Given the description of an element on the screen output the (x, y) to click on. 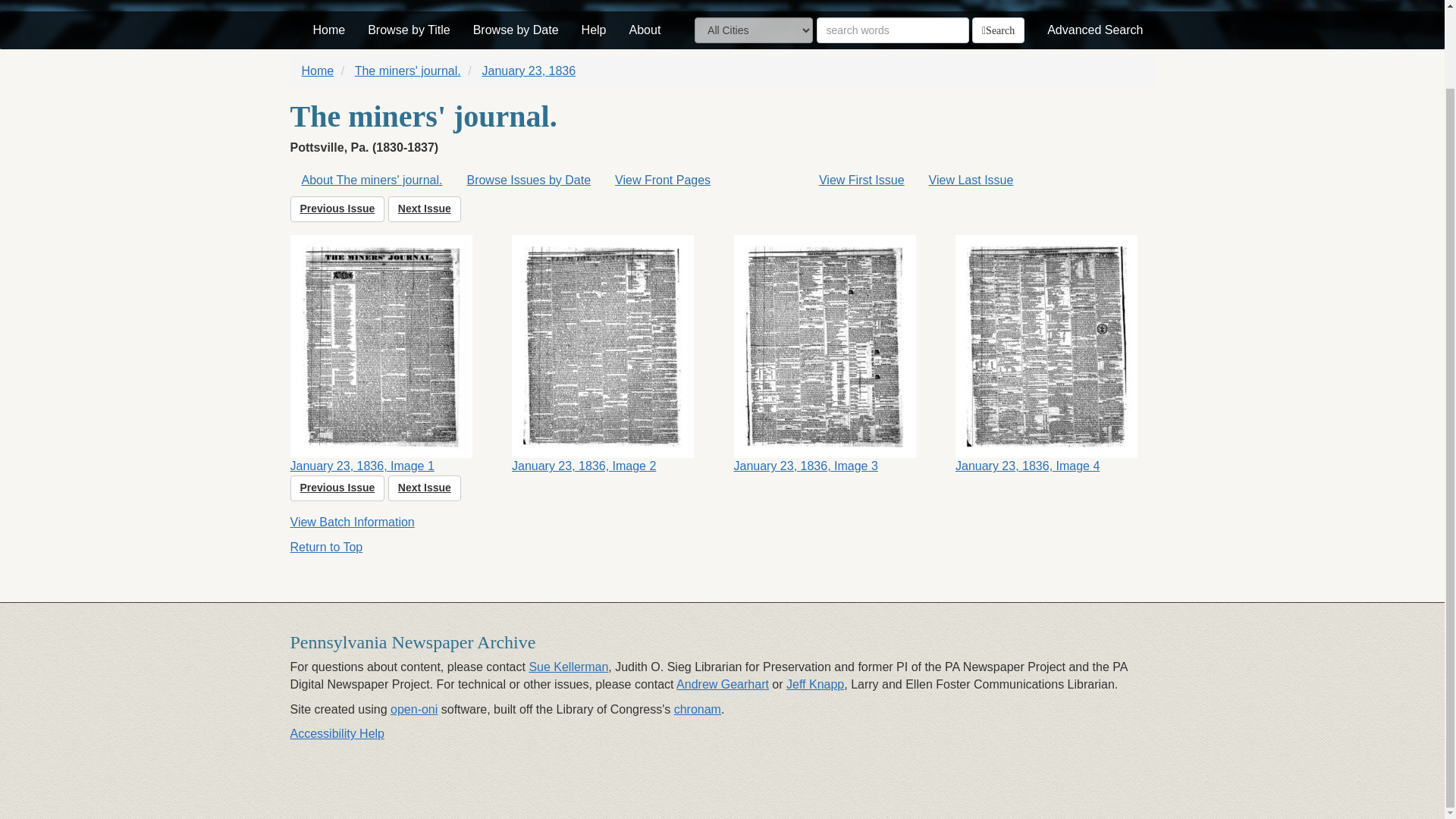
January 23, 1836, Image 1 (389, 355)
Home (328, 30)
Browse by Title (408, 30)
Next Issue (424, 208)
Accessibility Help (336, 733)
Return to Top (325, 546)
Browse Issues by Date (528, 180)
The miners' journal. (408, 70)
Browse by Date (515, 30)
January 23, 1836, Image 3 (833, 355)
January 23, 1836, Image 4 (1054, 355)
January 23, 1836 (528, 70)
Help (593, 30)
Advanced Search (1094, 30)
View Batch Information (351, 521)
